Given the description of an element on the screen output the (x, y) to click on. 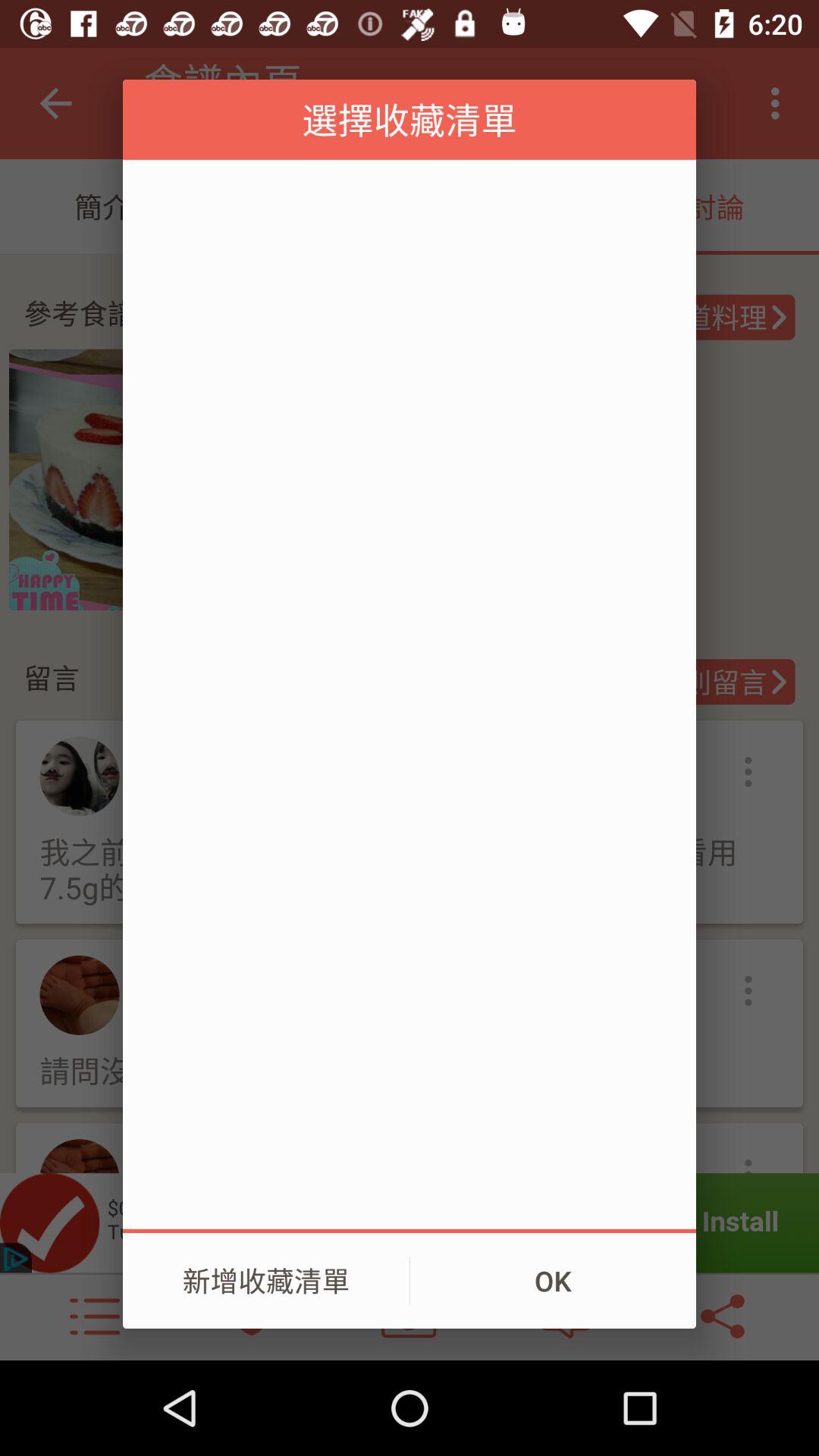
select ok (553, 1280)
